Given the description of an element on the screen output the (x, y) to click on. 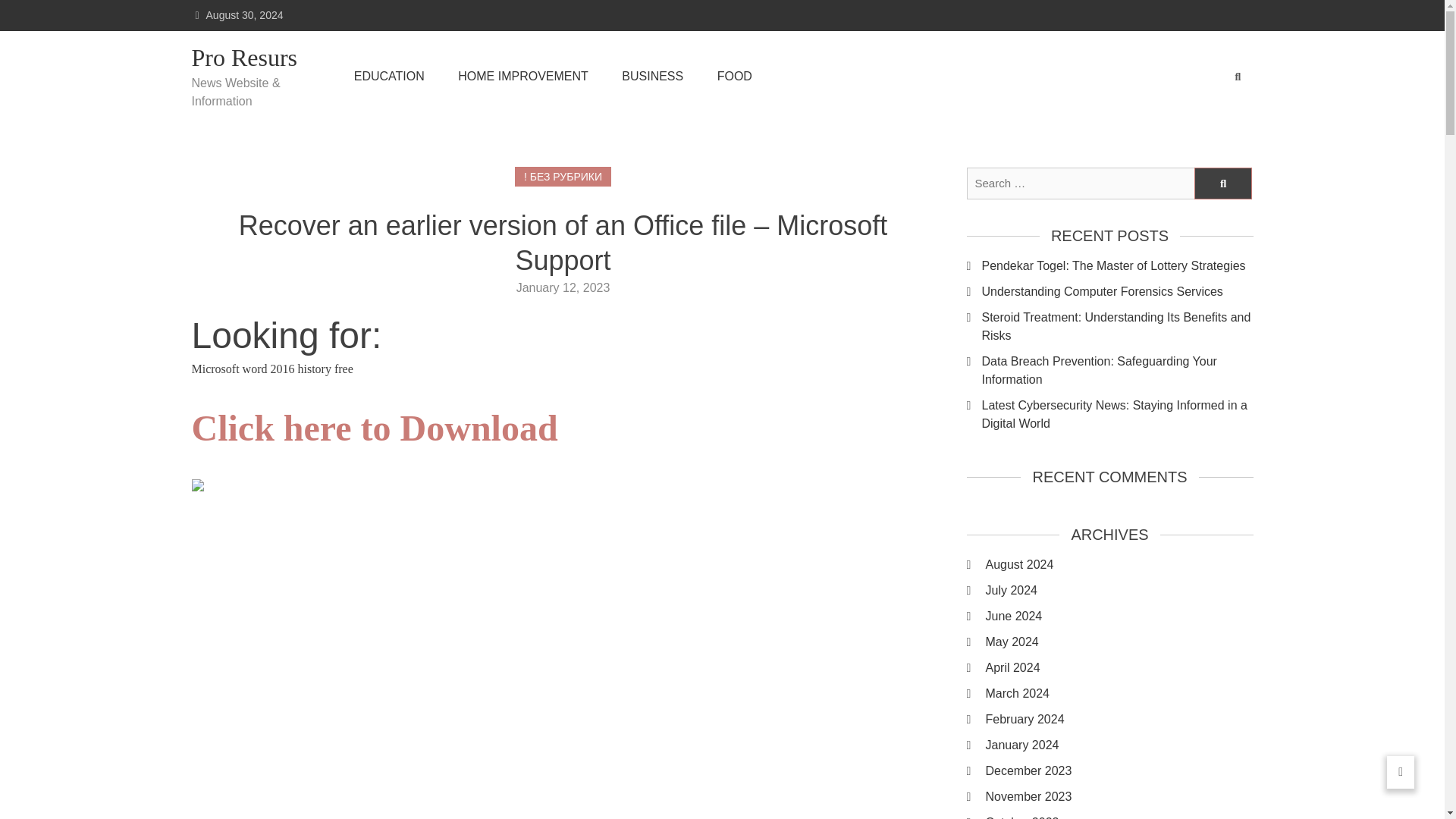
July 2024 (1119, 590)
FOOD (734, 76)
Steroid Treatment: Understanding Its Benefits and Risks (1116, 326)
Click here to Download (373, 436)
May 2024 (1119, 642)
Pro Resurs (252, 58)
HOME IMPROVEMENT (523, 76)
August 2024 (1119, 565)
January 12, 2023 (563, 287)
